Given the description of an element on the screen output the (x, y) to click on. 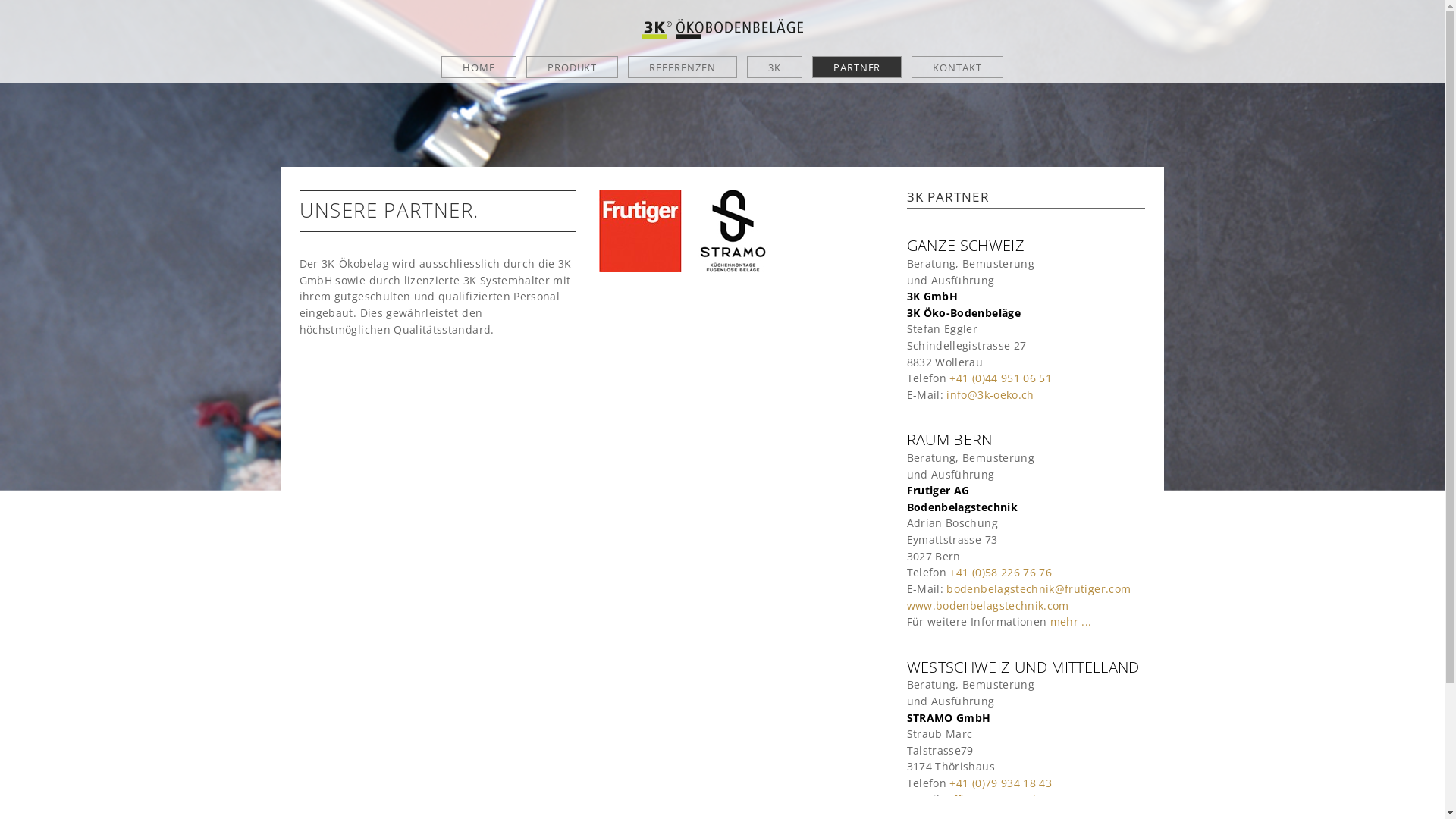
3K Element type: text (774, 67)
www.bodenbelagstechnik.com Element type: text (987, 605)
+41 (0)79 934 18 43 Element type: text (1000, 782)
PARTNER Element type: text (857, 67)
HOME Element type: text (478, 67)
+41 (0)58 226 76 76 Element type: text (1000, 571)
KONTAKT Element type: text (957, 67)
mehr ... Element type: text (1071, 621)
office@stramo.ch Element type: text (992, 799)
info@3k-oeko.ch Element type: text (989, 394)
+41 (0)44 951 06 51 Element type: text (1000, 377)
PRODUKT Element type: text (572, 67)
bodenbelagstechnik@frutiger.com Element type: text (1038, 588)
REFERENZEN Element type: text (682, 67)
